Given the description of an element on the screen output the (x, y) to click on. 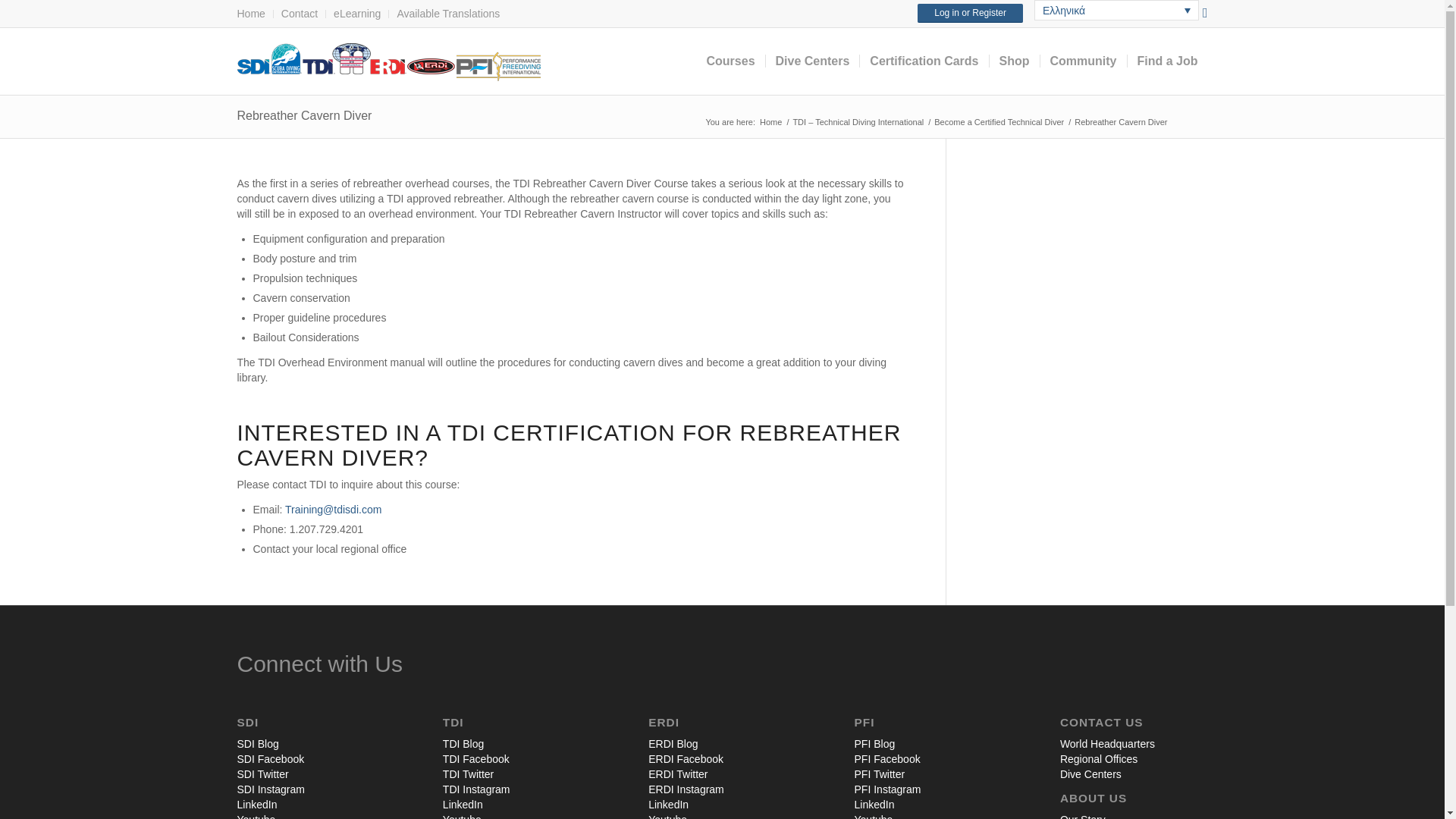
Permanent Link: Rebreather Cavern Diver (303, 115)
header-web-live (387, 61)
Home (249, 13)
Log in or Register (970, 13)
eLearning (356, 13)
Become a Certified Technical Diver (998, 122)
Contact (299, 13)
Courses (729, 61)
header-web-live (387, 62)
Available Translations (447, 13)
